Given the description of an element on the screen output the (x, y) to click on. 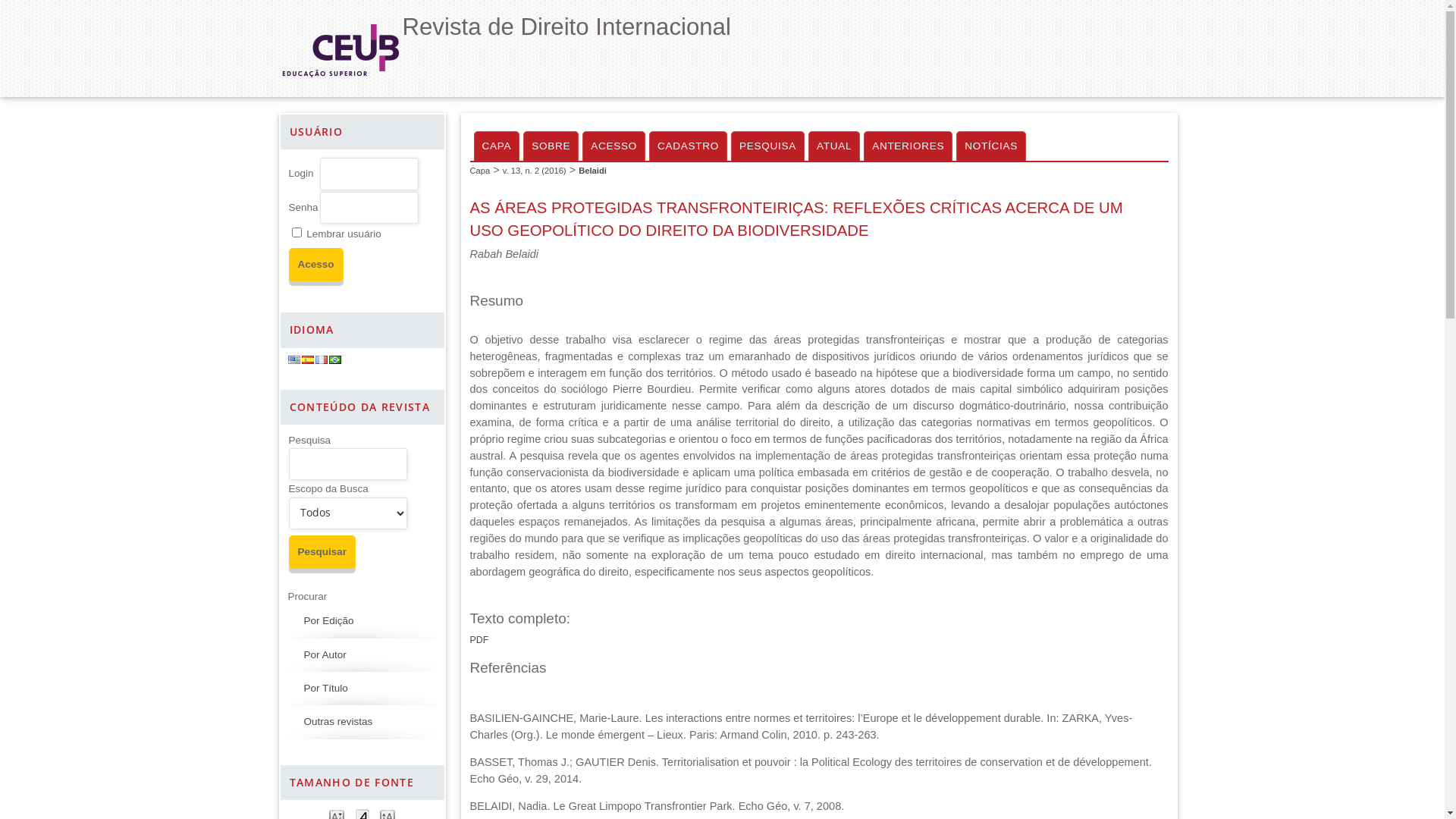
ANTERIORES Element type: text (907, 145)
CADASTRO Element type: text (688, 145)
v. 13, n. 2 (2016) Element type: text (534, 170)
ATUAL Element type: text (833, 145)
ACESSO Element type: text (613, 145)
SOBRE Element type: text (550, 145)
CAPA Element type: text (496, 145)
Capa Element type: text (480, 170)
Belaidi Element type: text (592, 170)
PDF Element type: text (479, 639)
PESQUISA Element type: text (767, 145)
Acesso Element type: text (315, 264)
Por Autor Element type: text (324, 654)
Pesquisar Element type: text (321, 551)
Outras revistas Element type: text (337, 721)
